Given the description of an element on the screen output the (x, y) to click on. 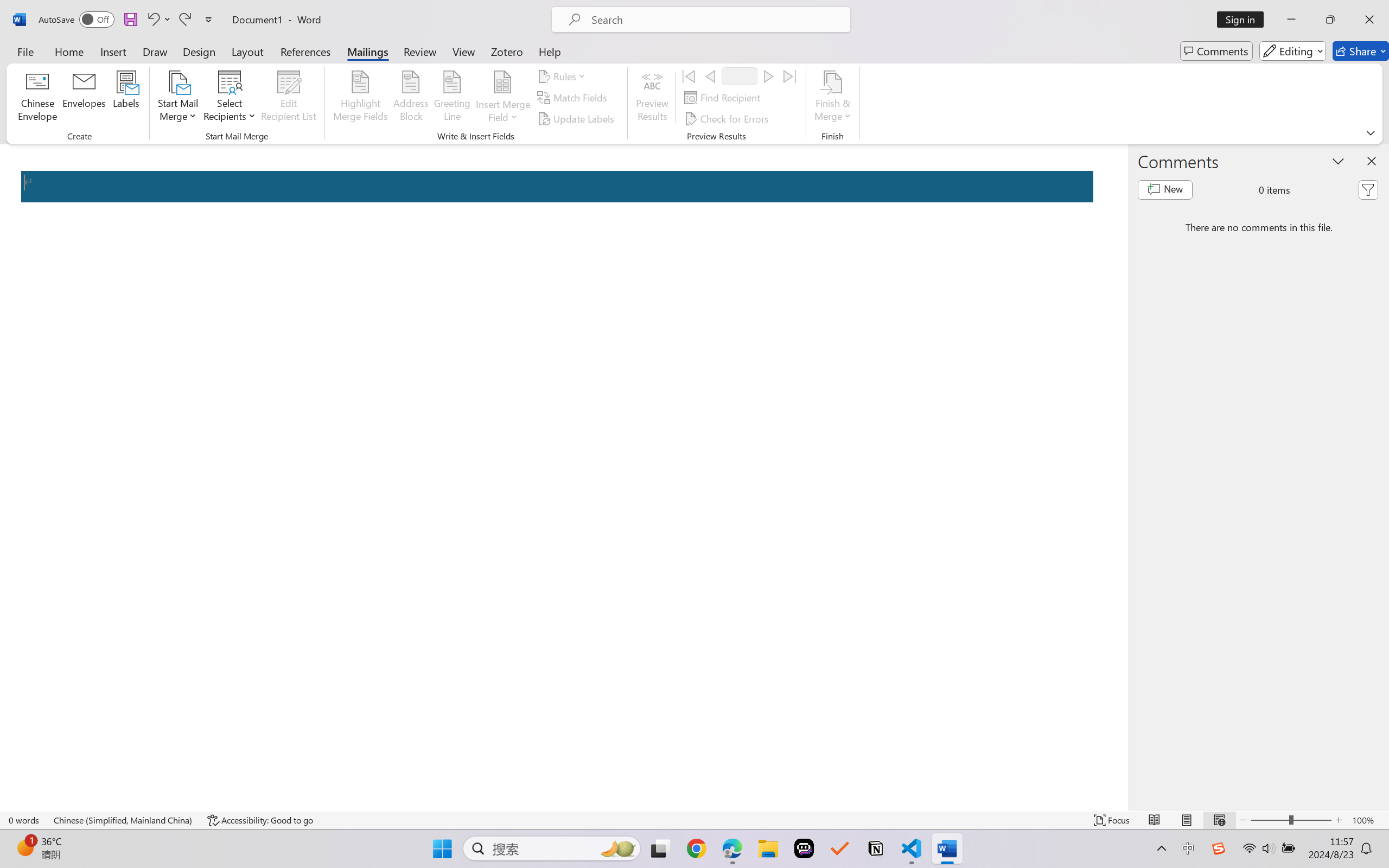
Highlight Merge Fields (360, 97)
Undo Apply Quick Style Set (152, 19)
Filter (1367, 189)
Sign in (1244, 19)
Select Recipients (229, 97)
Check for Errors... (728, 118)
Record (739, 76)
